Given the description of an element on the screen output the (x, y) to click on. 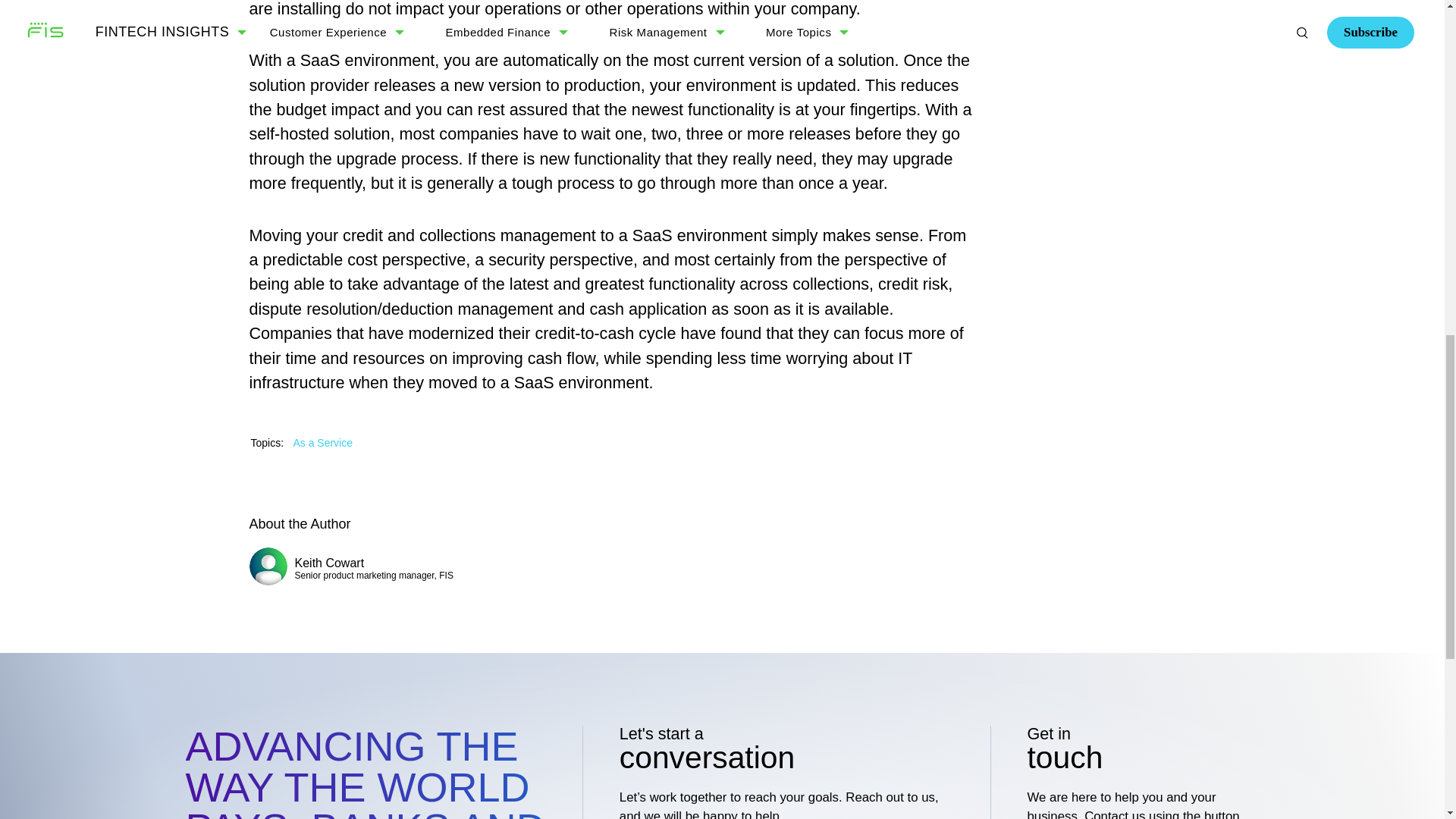
As a Service (322, 442)
